Given the description of an element on the screen output the (x, y) to click on. 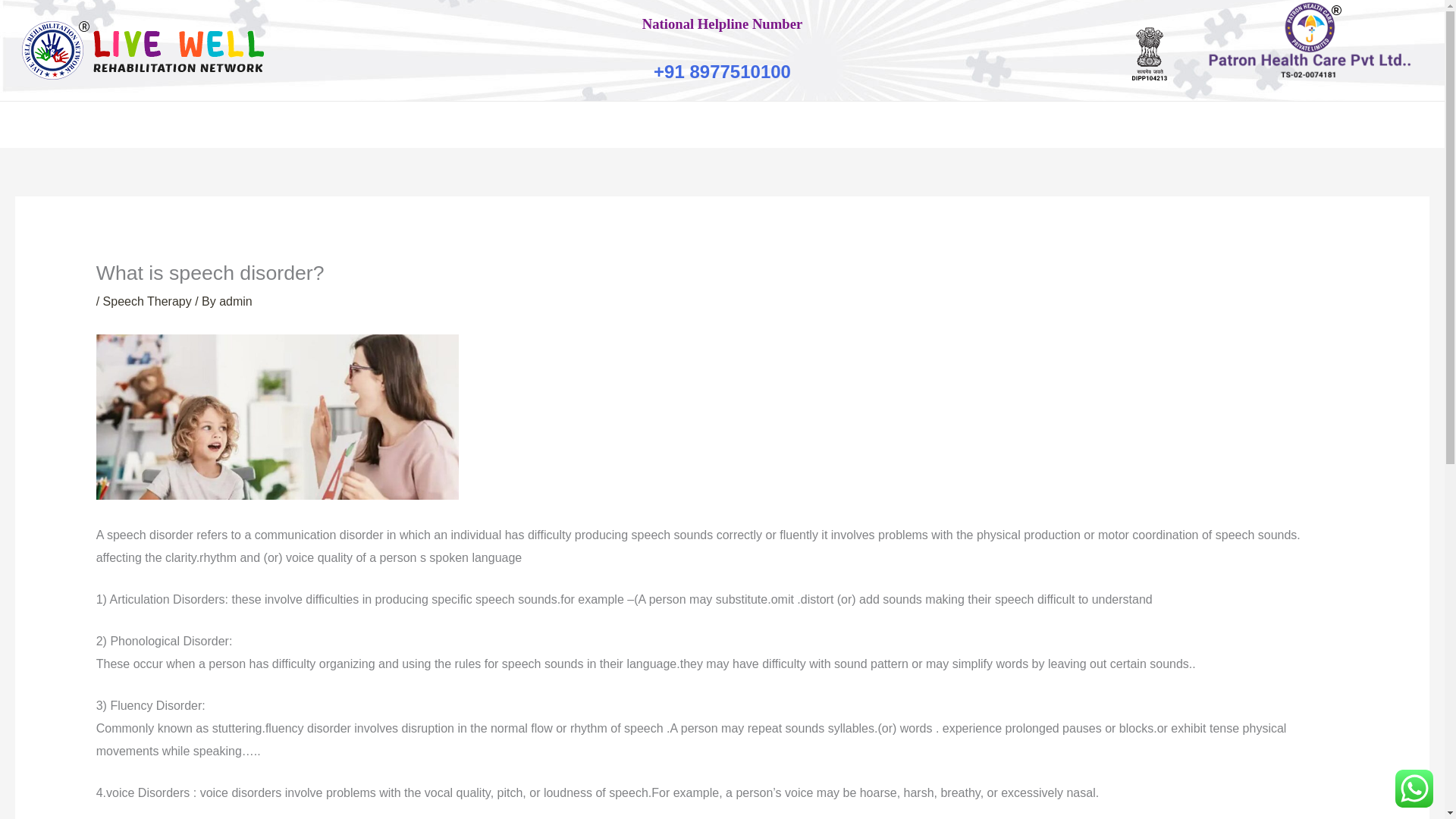
admin (235, 300)
Patron Health Care (713, 124)
Our Services (478, 124)
Gallery (970, 124)
About Us (395, 124)
for Franchise (824, 124)
View all posts by admin (235, 300)
Contact Us (1098, 124)
Career (901, 124)
Home (331, 124)
Blog (1033, 124)
Book Appointment (587, 124)
Speech Therapy (147, 300)
